Given the description of an element on the screen output the (x, y) to click on. 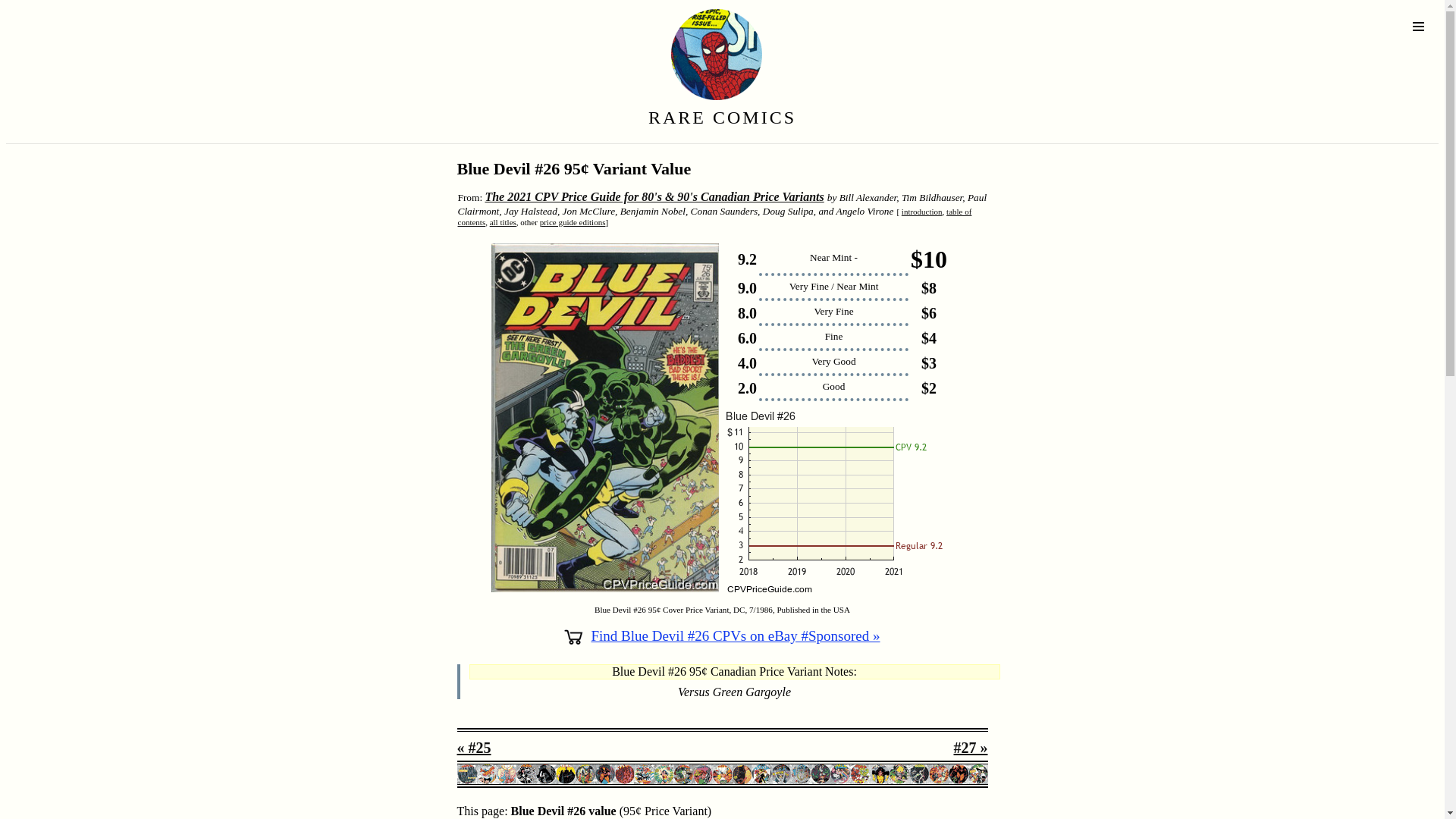
Rare Comics (689, 103)
price guide editions (572, 221)
RARE COMICS (721, 117)
table of contents (715, 216)
all titles (502, 221)
introduction (921, 211)
